Given the description of an element on the screen output the (x, y) to click on. 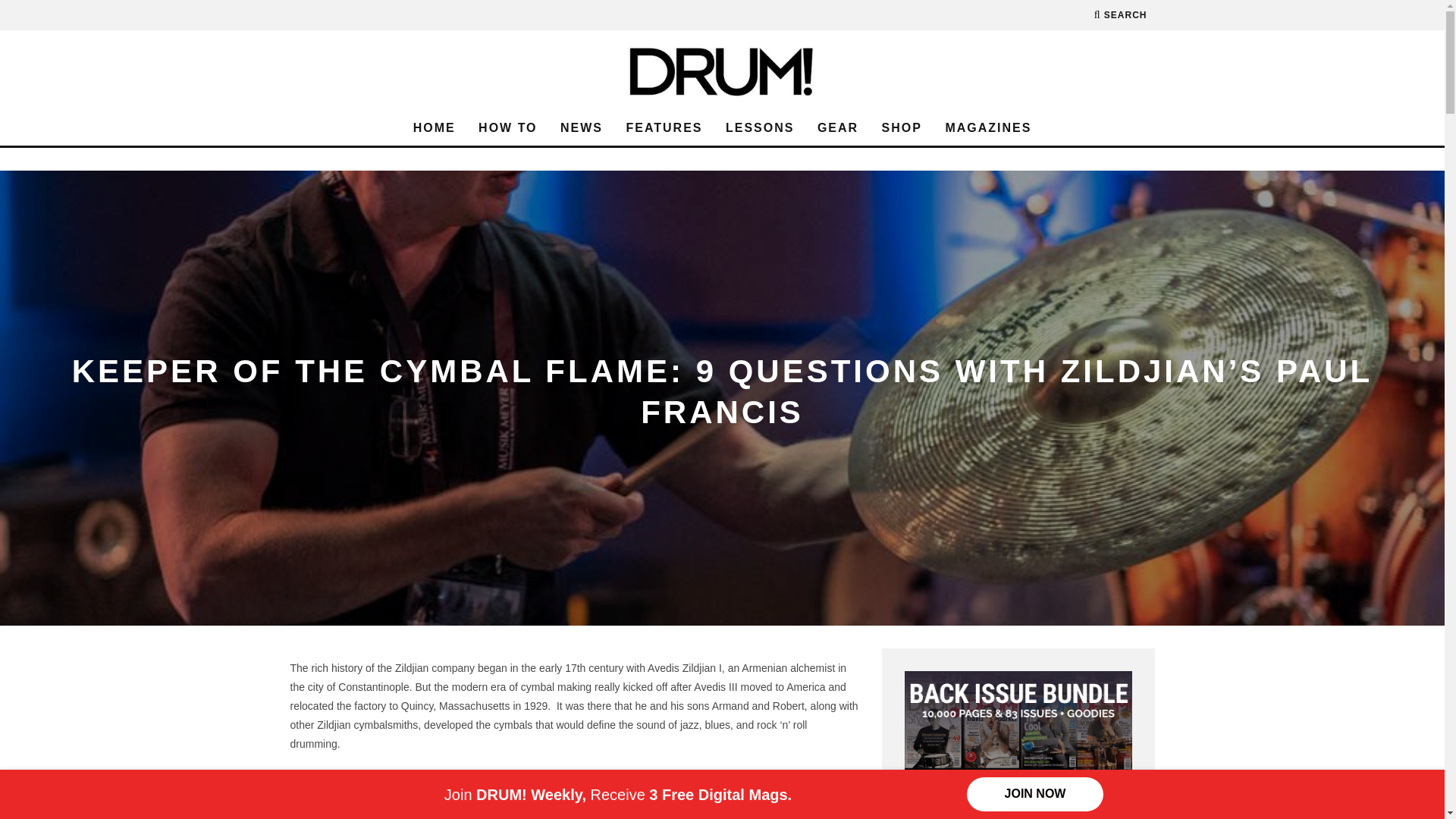
LESSONS (759, 128)
Search (1120, 15)
HOW TO (507, 128)
NEWS (581, 128)
GEAR (837, 128)
HOME (434, 128)
SEARCH (1120, 15)
FEATURES (663, 128)
SHOP (901, 128)
MAGAZINES (988, 128)
